Given the description of an element on the screen output the (x, y) to click on. 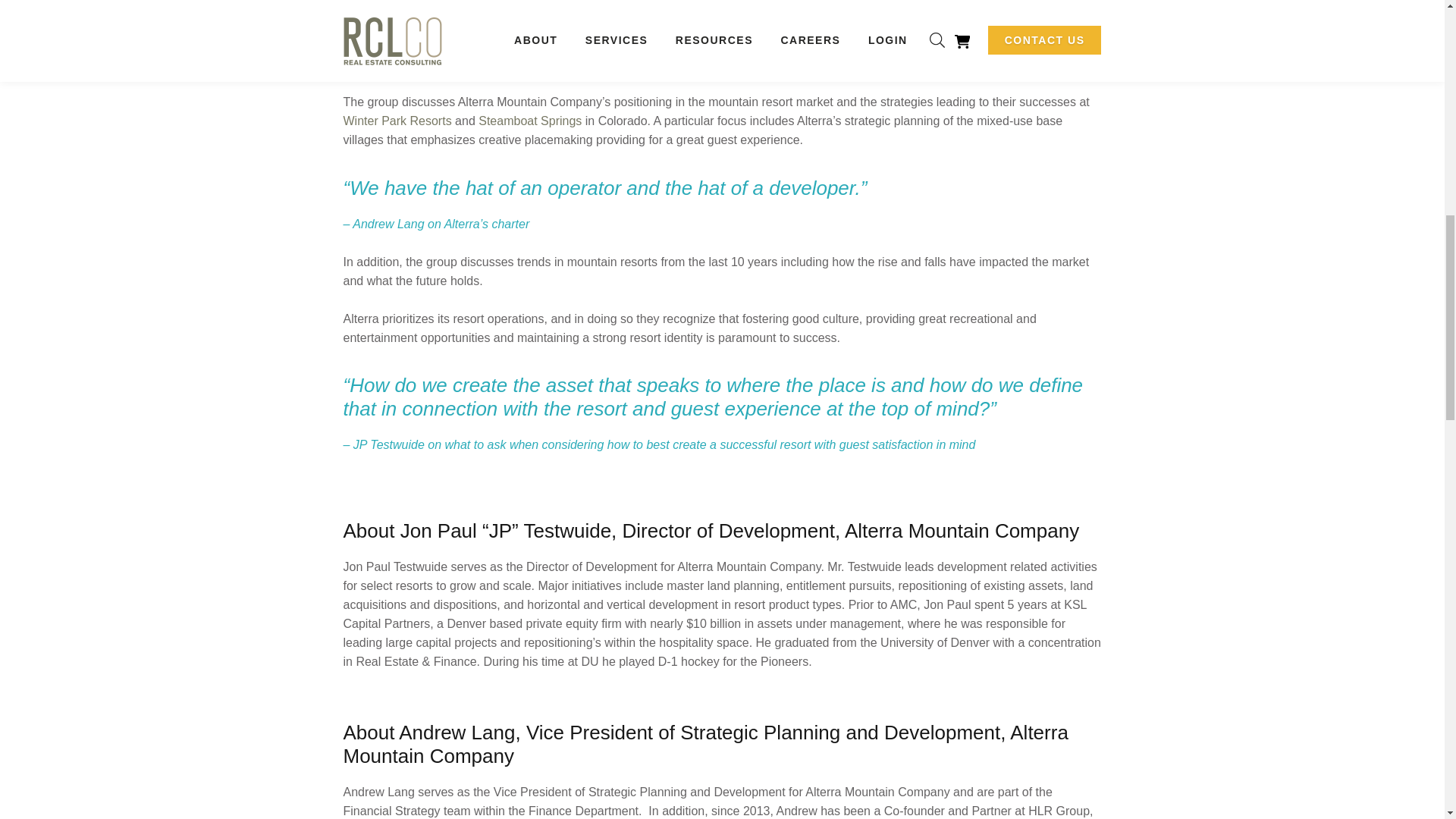
Winter Park Resorts (396, 120)
Alterra Mountain Company (524, 44)
Conversations with the Best Minds in Real Estate (570, 25)
Steamboat Springs (529, 120)
